Given the description of an element on the screen output the (x, y) to click on. 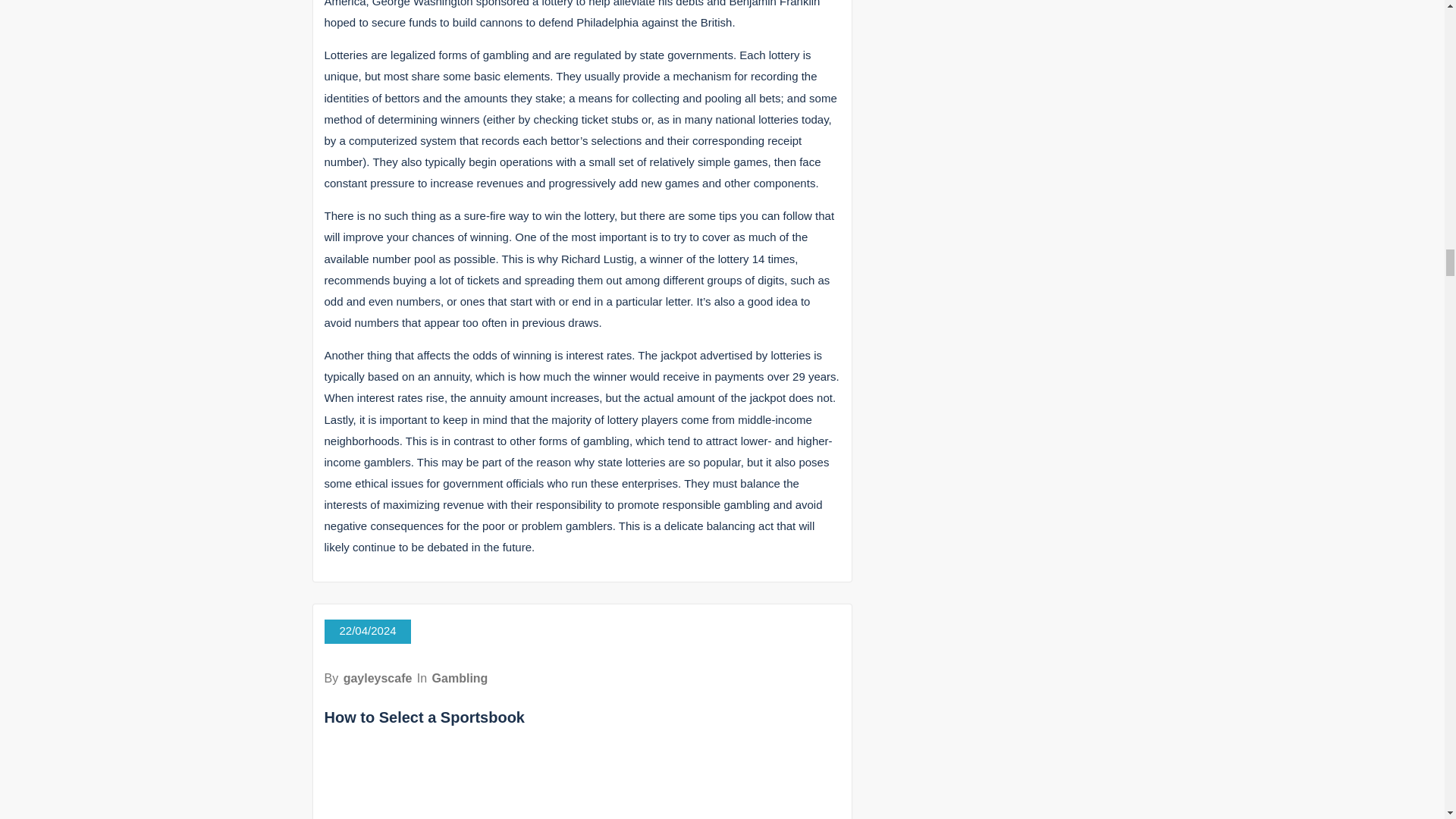
How to Select a Sportsbook (424, 717)
Gambling (459, 677)
gayleyscafe (377, 677)
